Given the description of an element on the screen output the (x, y) to click on. 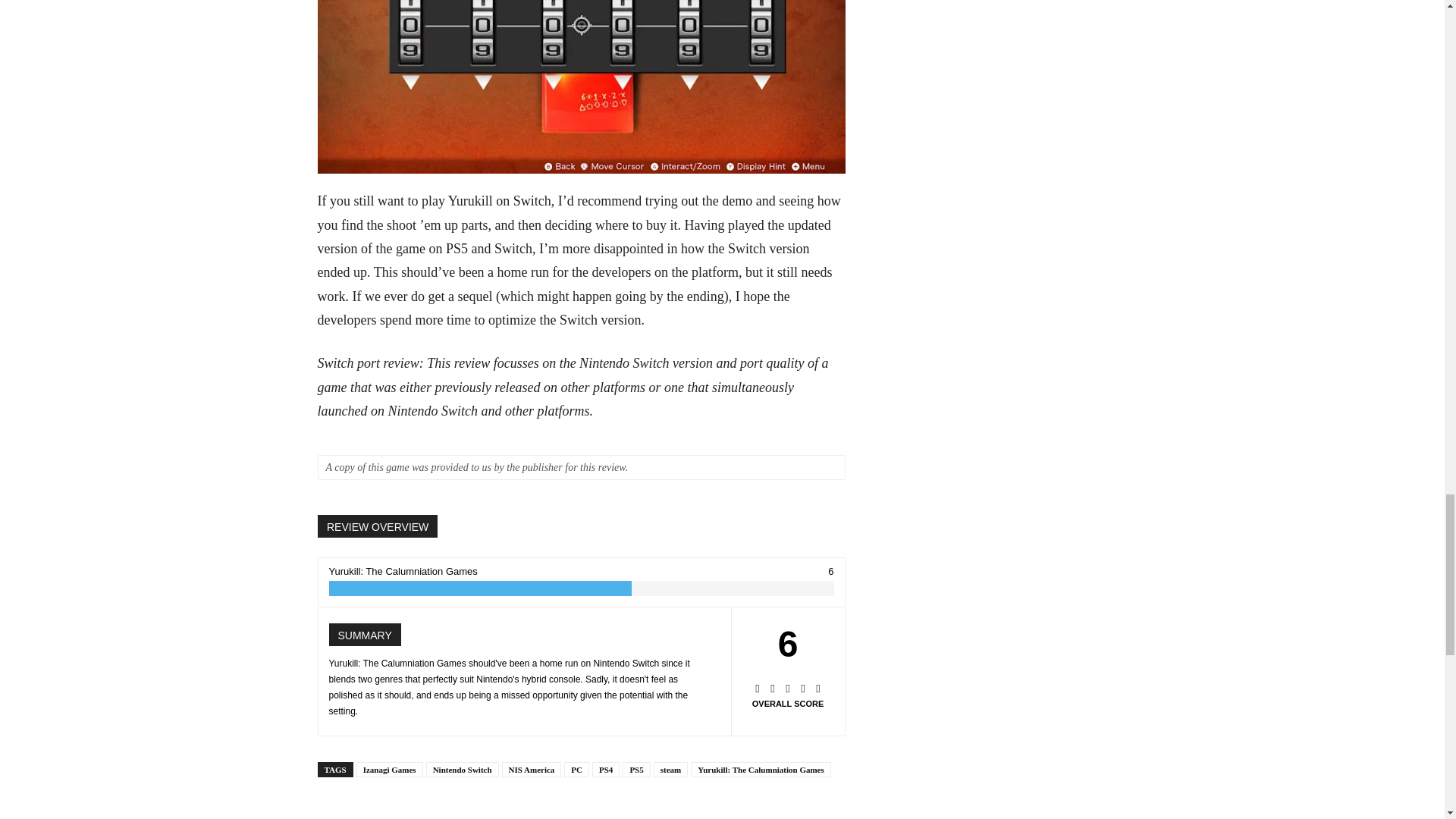
NIS America (532, 769)
PS4 (606, 769)
Izanagi Games (389, 769)
PC (576, 769)
Nintendo Switch (462, 769)
